Given the description of an element on the screen output the (x, y) to click on. 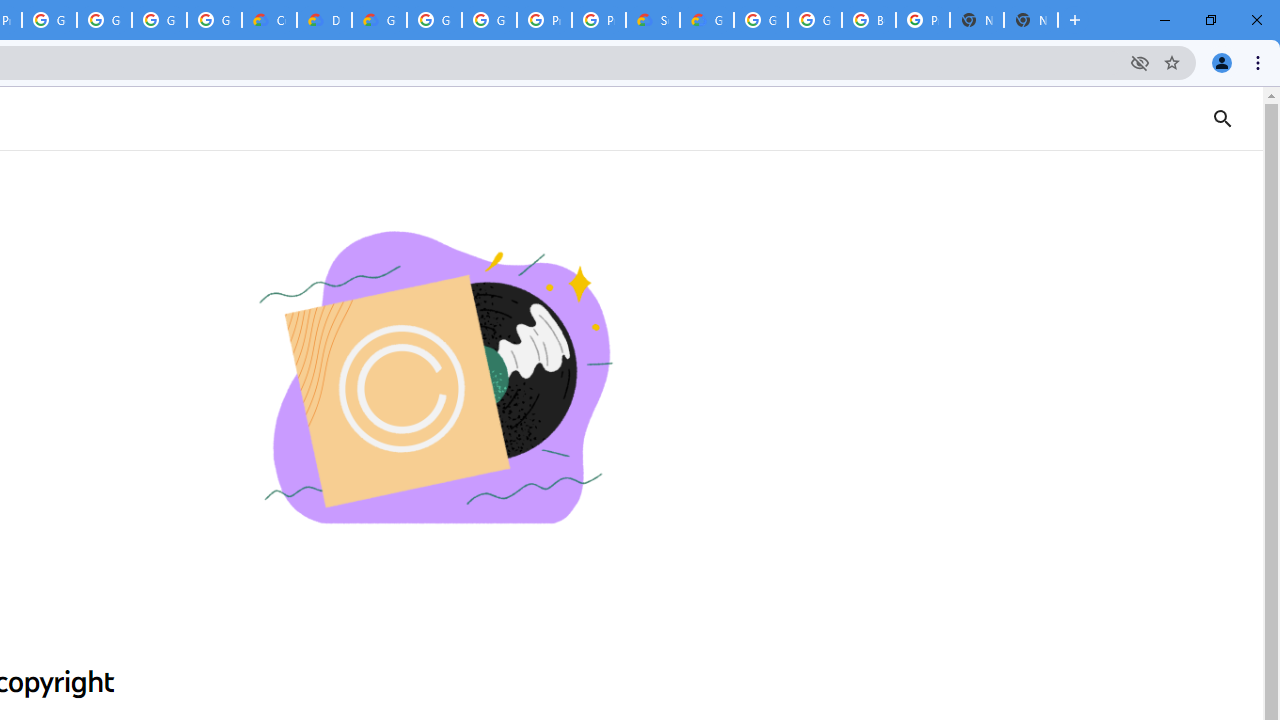
Google Workspace - Specific Terms (158, 20)
Google Workspace - Specific Terms (213, 20)
Copyright (433, 380)
Google Cloud Service Health (706, 20)
Customer Care | Google Cloud (268, 20)
Google Cloud Platform (434, 20)
